Given the description of an element on the screen output the (x, y) to click on. 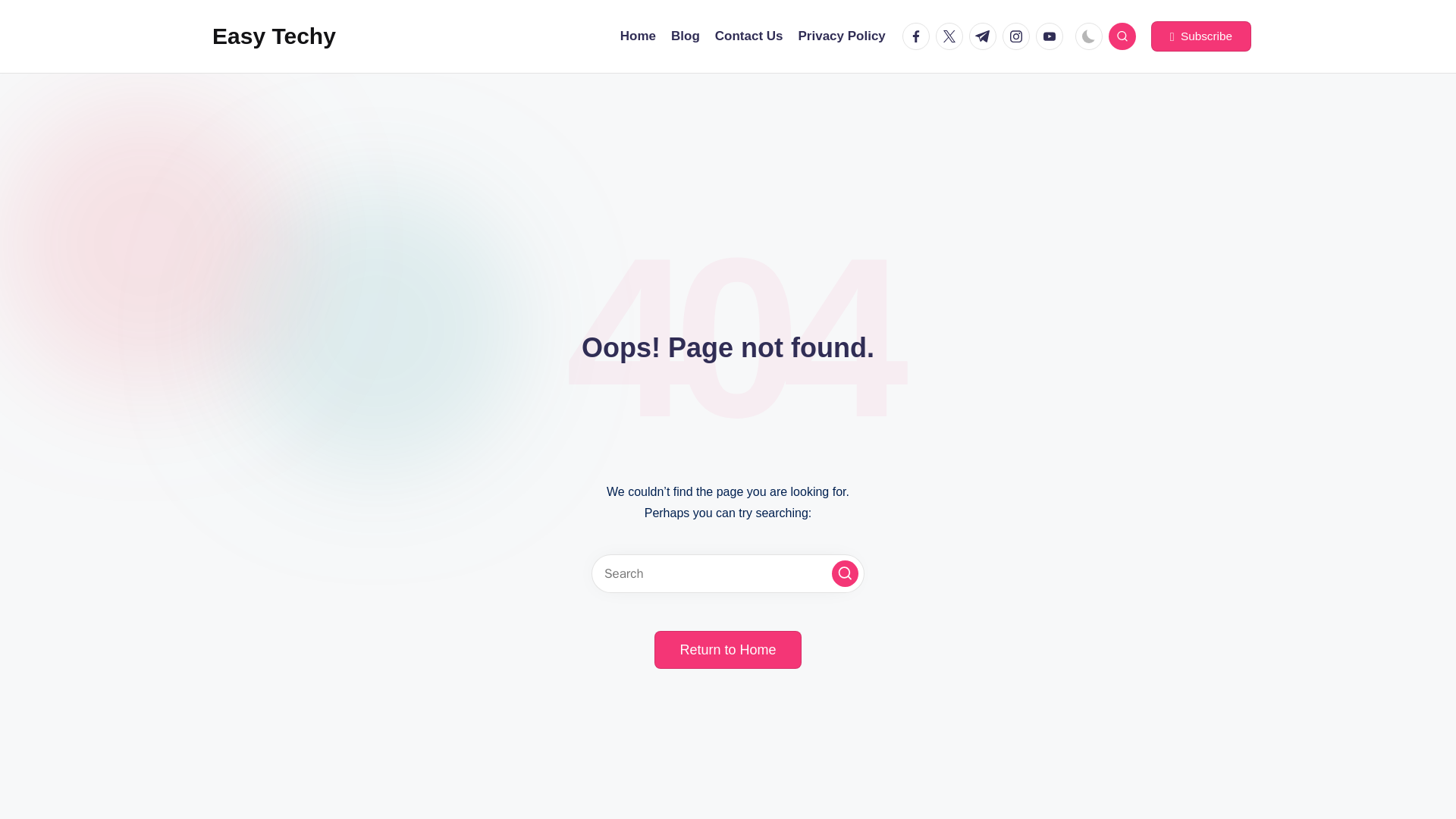
Blog (685, 36)
t.me (986, 35)
instagram.com (1019, 35)
facebook.com (919, 35)
Home (638, 36)
twitter.com (952, 35)
Privacy Policy (841, 36)
Subscribe (1200, 36)
Contact Us (748, 36)
youtube.com (1051, 35)
